Given the description of an element on the screen output the (x, y) to click on. 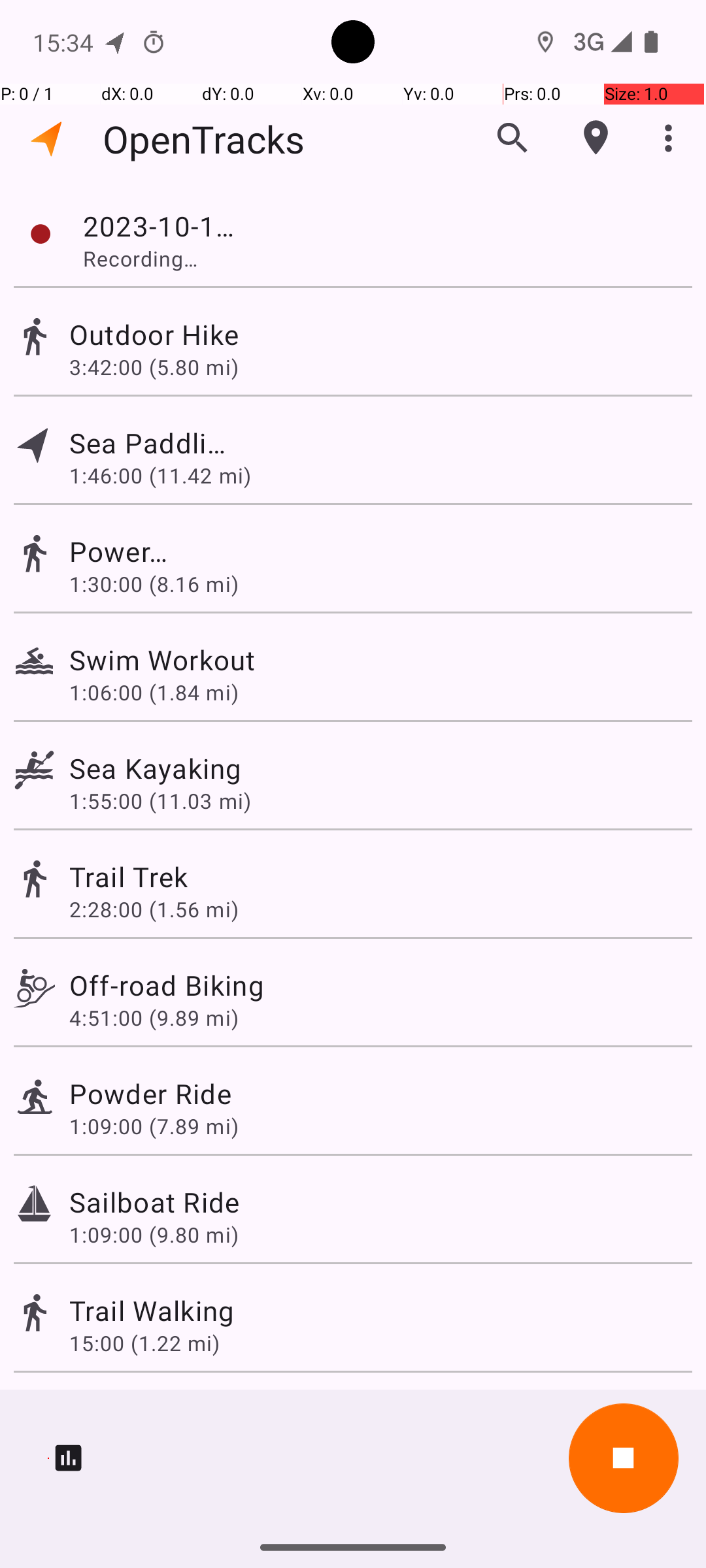
2023-10-15T15:34Z Element type: android.widget.TextView (163, 225)
Recording… Element type: android.widget.TextView (167, 258)
Outdoor Hike Element type: android.widget.TextView (154, 333)
3:42:00 (5.80 mi) Element type: android.widget.TextView (153, 366)
Sea Paddling Element type: android.widget.TextView (151, 442)
1:46:00 (11.42 mi) Element type: android.widget.TextView (159, 475)
Power Walk Element type: android.widget.TextView (131, 550)
1:30:00 (8.16 mi) Element type: android.widget.TextView (153, 583)
Swim Workout Element type: android.widget.TextView (246, 659)
1:06:00 (1.84 mi) Element type: android.widget.TextView (153, 692)
Sea Kayaking Element type: android.widget.TextView (155, 767)
1:55:00 (11.03 mi) Element type: android.widget.TextView (159, 800)
Trail Trek Element type: android.widget.TextView (128, 876)
2:28:00 (1.56 mi) Element type: android.widget.TextView (153, 909)
Off-road Biking Element type: android.widget.TextView (166, 984)
4:51:00 (9.89 mi) Element type: android.widget.TextView (153, 1017)
Powder Ride Element type: android.widget.TextView (150, 1092)
1:09:00 (7.89 mi) Element type: android.widget.TextView (153, 1125)
Sailboat Ride Element type: android.widget.TextView (154, 1201)
1:09:00 (9.80 mi) Element type: android.widget.TextView (153, 1234)
Trail Walking Element type: android.widget.TextView (151, 1309)
15:00 (1.22 mi) Element type: android.widget.TextView (144, 1342)
City Stroll Element type: android.widget.TextView (131, 1408)
